Given the description of an element on the screen output the (x, y) to click on. 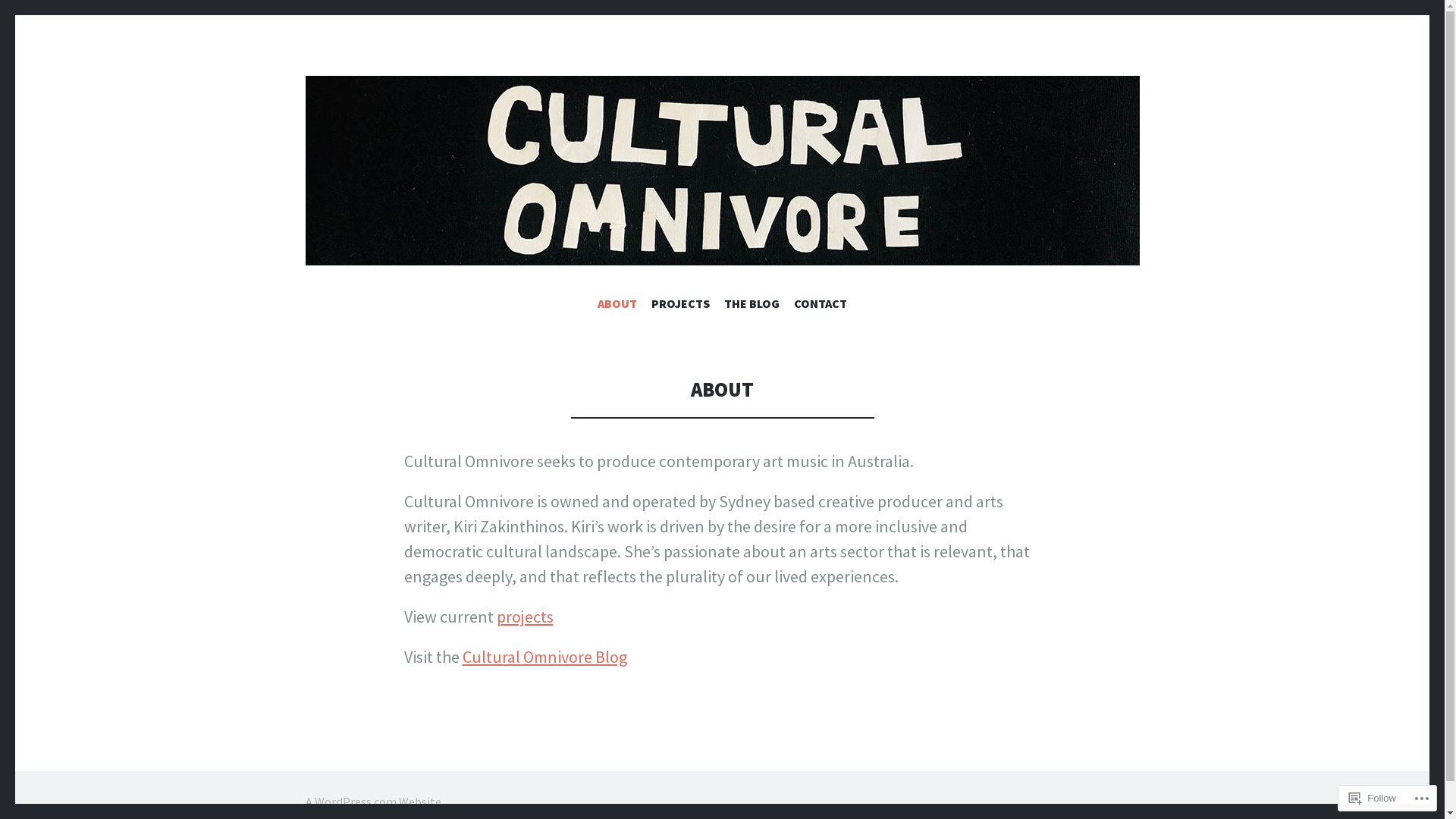
Cultural Omnivore Blog Element type: text (544, 656)
PROJECTS Element type: text (680, 305)
ABOUT Element type: text (617, 305)
Cultural Omnivore Element type: hover (721, 170)
Follow Element type: text (1372, 797)
projects Element type: text (523, 616)
CONTACT Element type: text (820, 305)
THE BLOG Element type: text (751, 305)
CULTURAL OMNIVORE Element type: text (594, 328)
A WordPress.com Website Element type: text (372, 801)
